Given the description of an element on the screen output the (x, y) to click on. 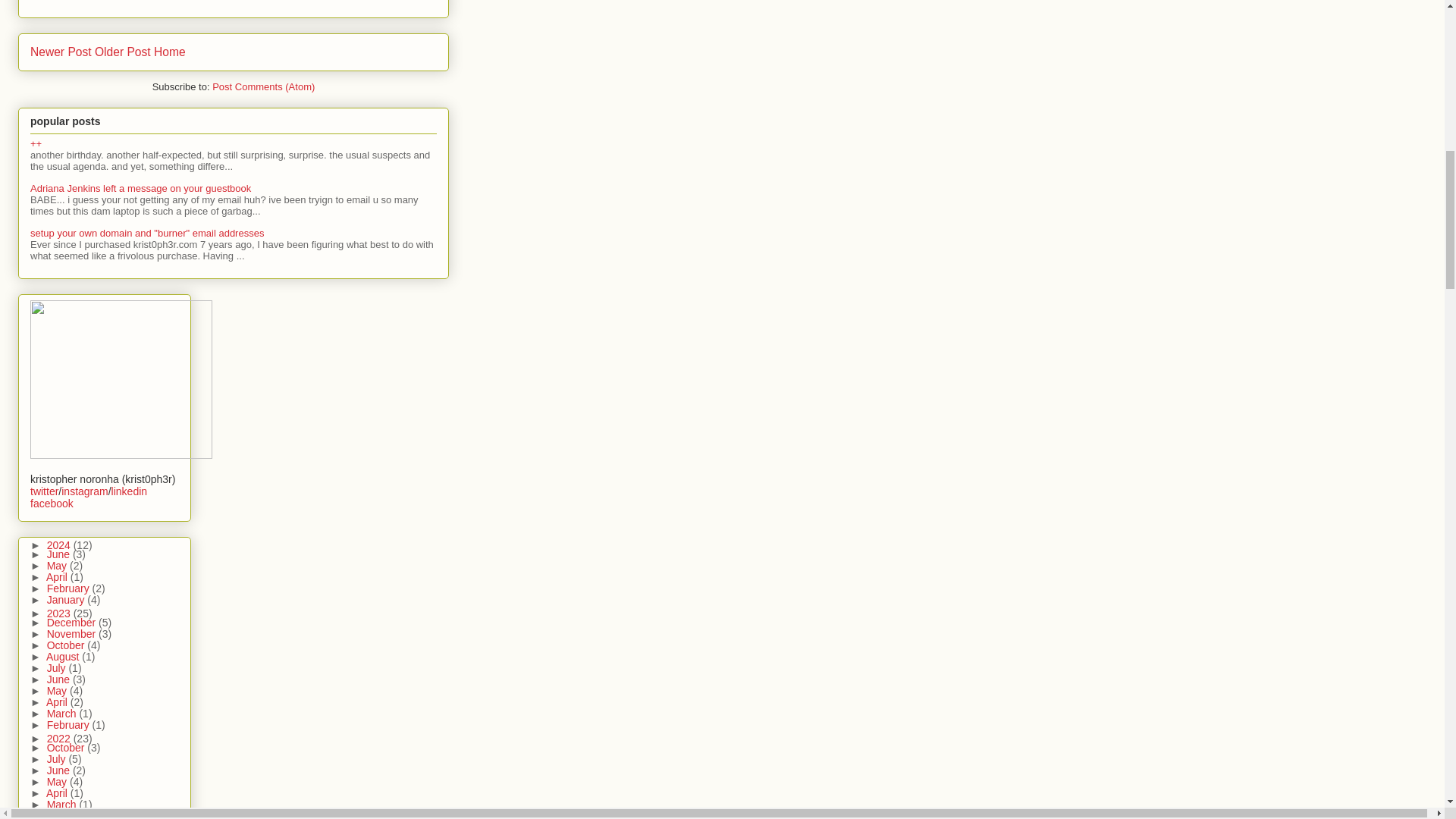
2024 (60, 544)
February (69, 588)
Home (170, 51)
Older Post (122, 51)
April (57, 576)
Newer Post (60, 51)
instagram (84, 491)
May (57, 565)
Newer Post (60, 51)
linkedin (129, 491)
facebook (52, 503)
January (66, 599)
Adriana Jenkins left a message on your guestbook (140, 188)
June (59, 553)
setup your own domain and "burner" email addresses (146, 233)
